Given the description of an element on the screen output the (x, y) to click on. 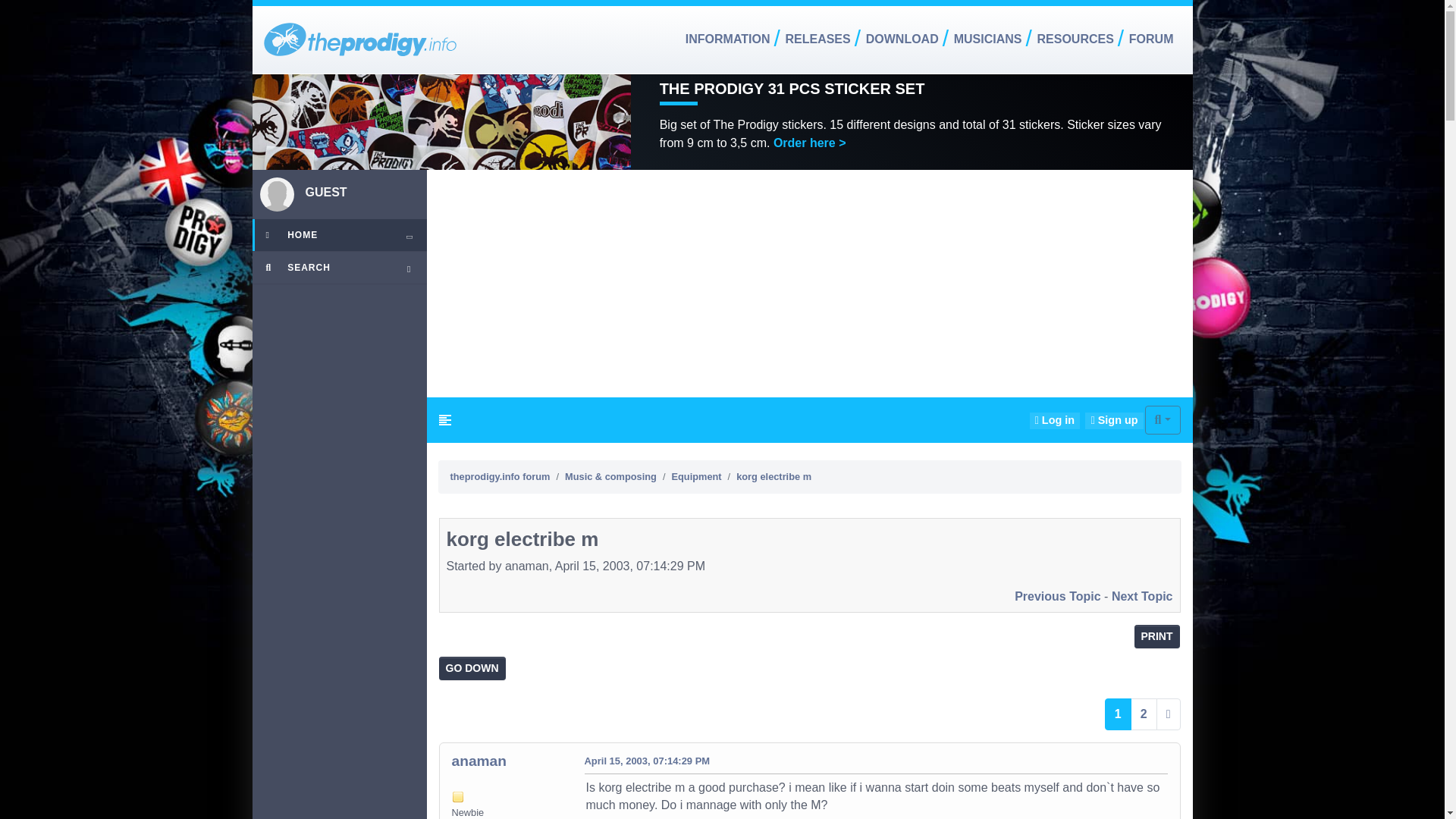
INFORMATION (727, 39)
RELEASES (817, 39)
korg electribe m (646, 760)
View the profile of anaman (478, 760)
